Given the description of an element on the screen output the (x, y) to click on. 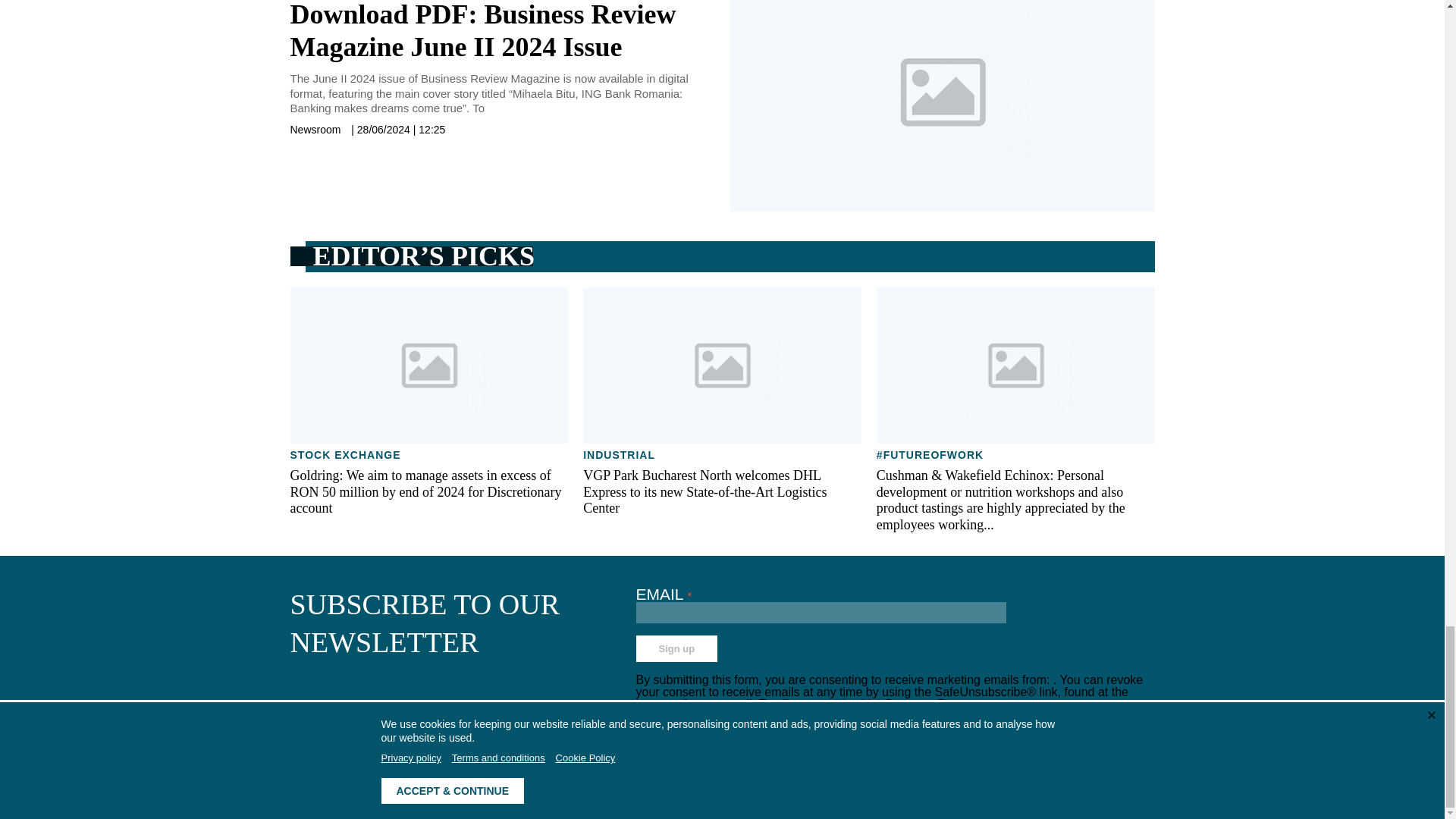
Sign up (675, 648)
required (690, 595)
